Given the description of an element on the screen output the (x, y) to click on. 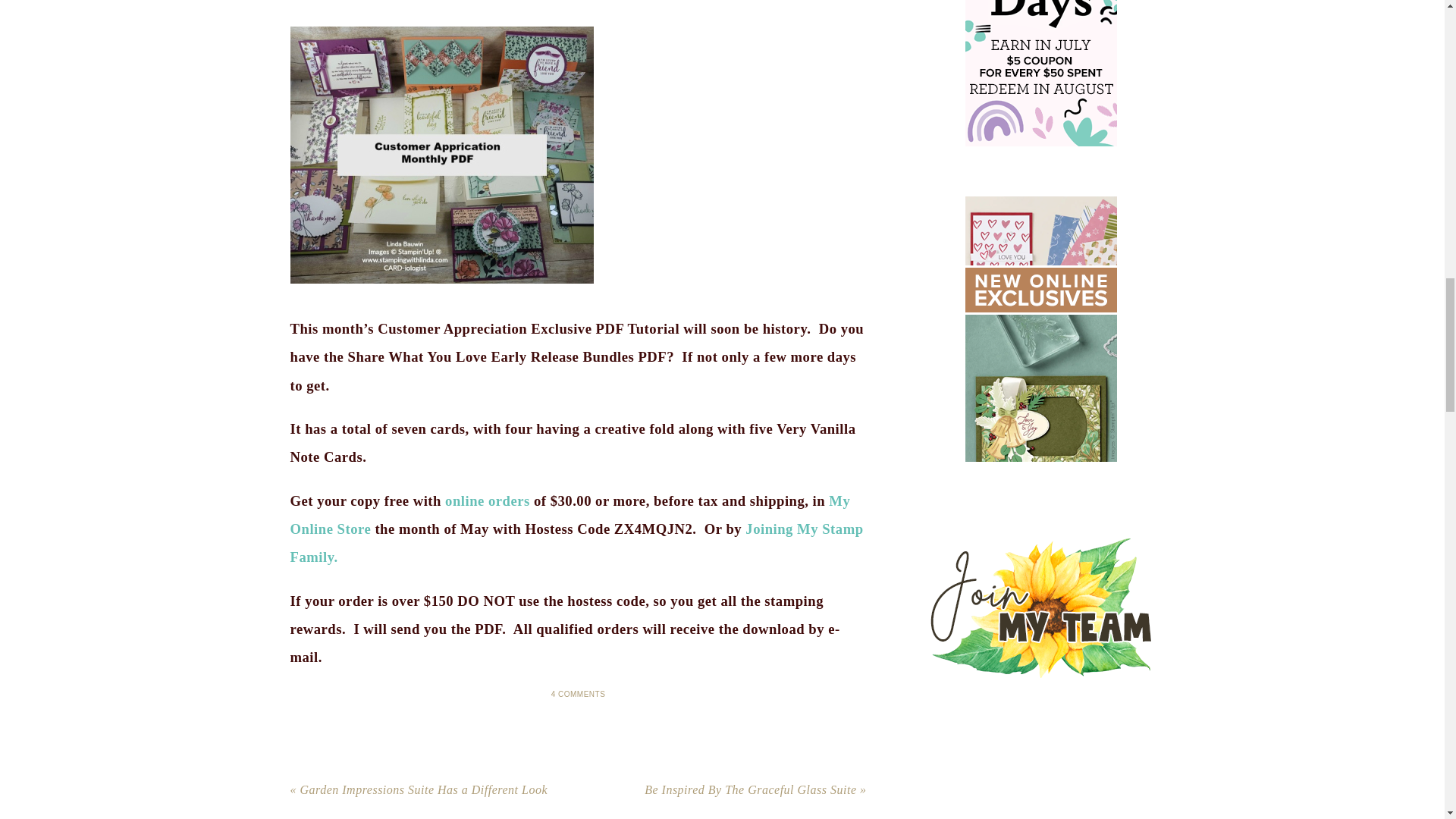
4 COMMENTS (578, 694)
Joining My Stamp Family. (576, 542)
online orders (487, 500)
My Online Store (569, 515)
